Given the description of an element on the screen output the (x, y) to click on. 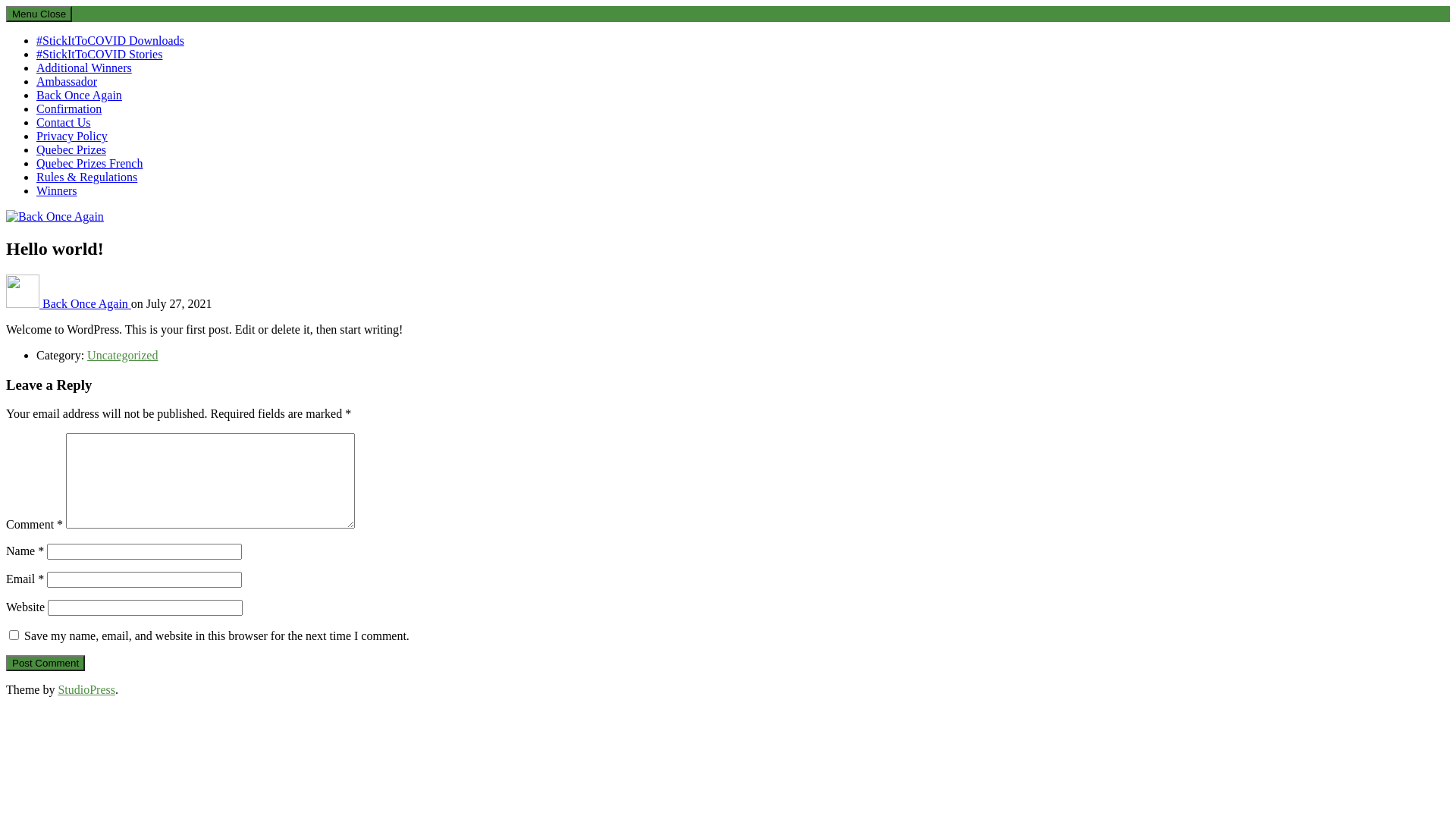
Confirmation Element type: text (68, 108)
#StickItToCOVID Stories Element type: text (99, 53)
Post Comment Element type: text (45, 663)
Back Once Again Element type: text (79, 94)
Quebec Prizes French Element type: text (89, 162)
Ambassador Element type: text (66, 81)
Quebec Prizes Element type: text (71, 149)
Additional Winners Element type: text (83, 67)
Rules & Regulations Element type: text (86, 176)
Uncategorized Element type: text (122, 354)
Posts by Back Once Again Element type: hover (24, 303)
Back Once Again Element type: text (86, 303)
Menu Close Element type: text (39, 13)
Winners Element type: text (56, 190)
#StickItToCOVID Downloads Element type: text (110, 40)
StudioPress Element type: text (86, 689)
Back Once Again Element type: text (48, 241)
Contact Us Element type: text (63, 122)
Privacy Policy Element type: text (71, 135)
